Given the description of an element on the screen output the (x, y) to click on. 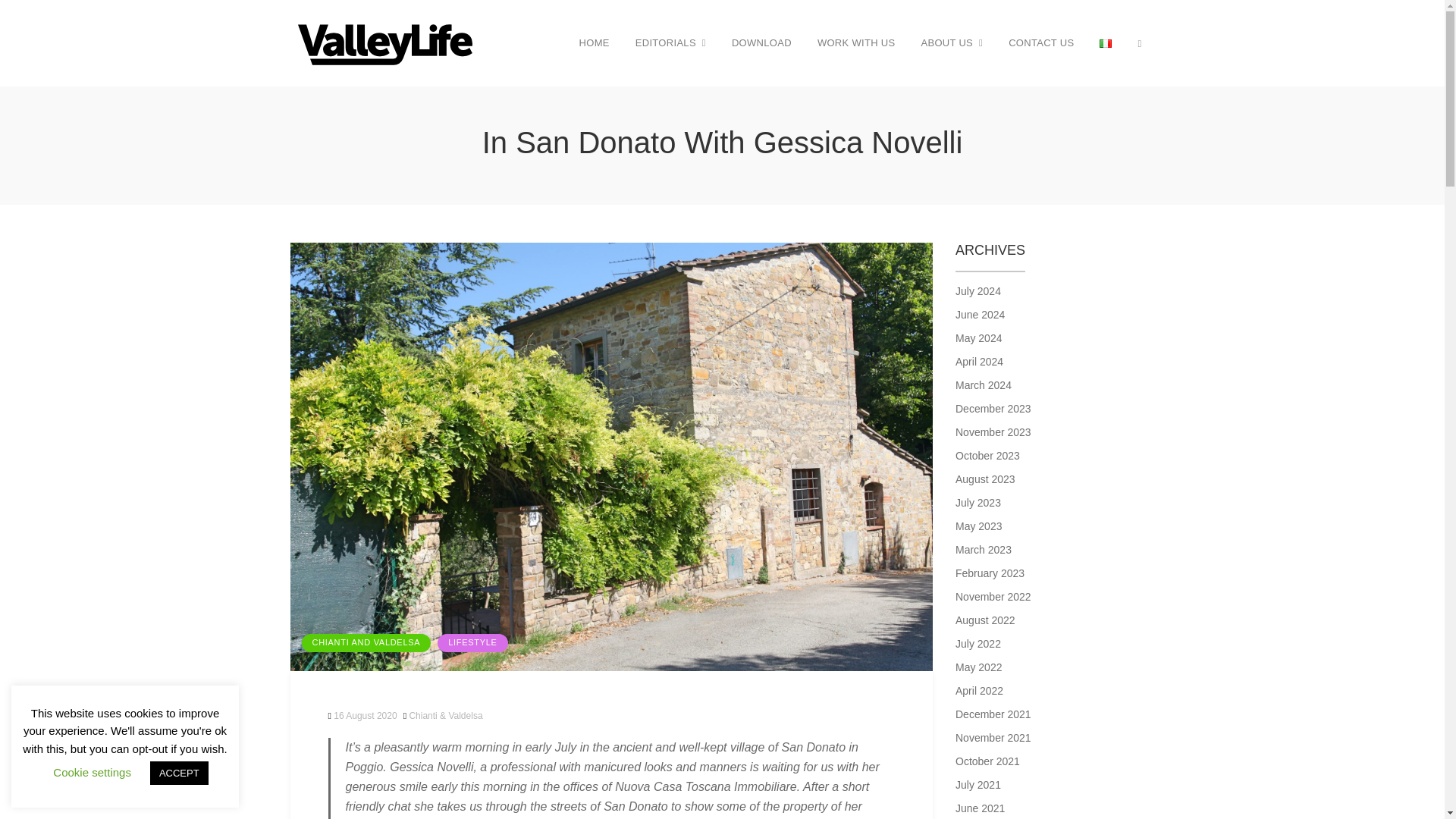
VALLEY LIFE (320, 93)
ABOUT US (951, 43)
CONTACT US (1040, 43)
May 2024 (1054, 338)
16 August 2020 (361, 715)
December 2023 (1054, 408)
EDITORIALS (671, 43)
CHIANTI AND VALDELSA (365, 642)
July 2024 (1054, 291)
Download (762, 43)
WORK WITH US (856, 43)
Editorials (671, 43)
March 2024 (1054, 385)
June 2024 (1054, 314)
LIFESTYLE (472, 642)
